Given the description of an element on the screen output the (x, y) to click on. 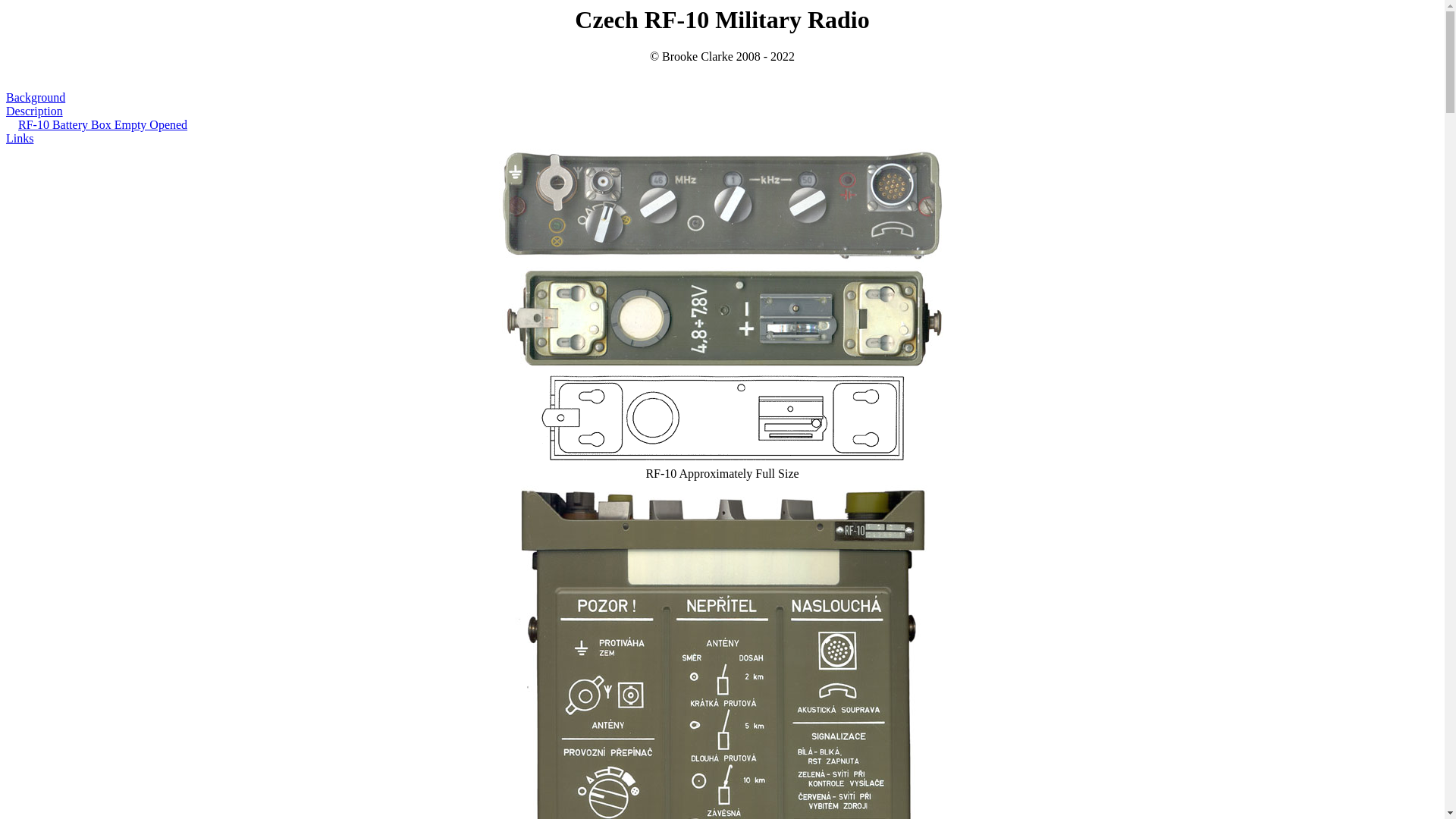
Description (33, 110)
Background (35, 97)
RF-10 Battery Box Empty Opened (102, 124)
Links (19, 137)
